Given the description of an element on the screen output the (x, y) to click on. 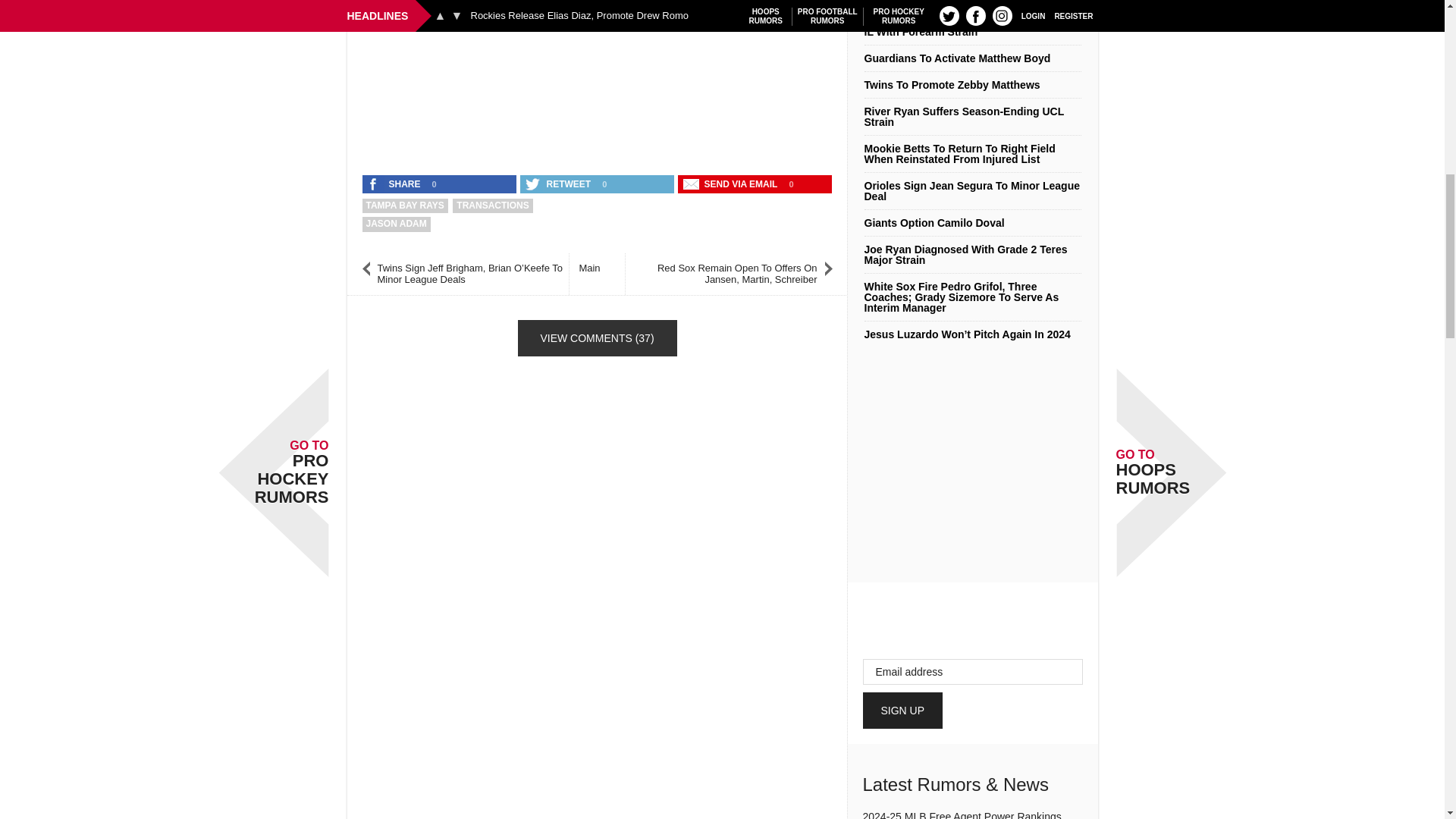
Sign Up (903, 710)
